Given the description of an element on the screen output the (x, y) to click on. 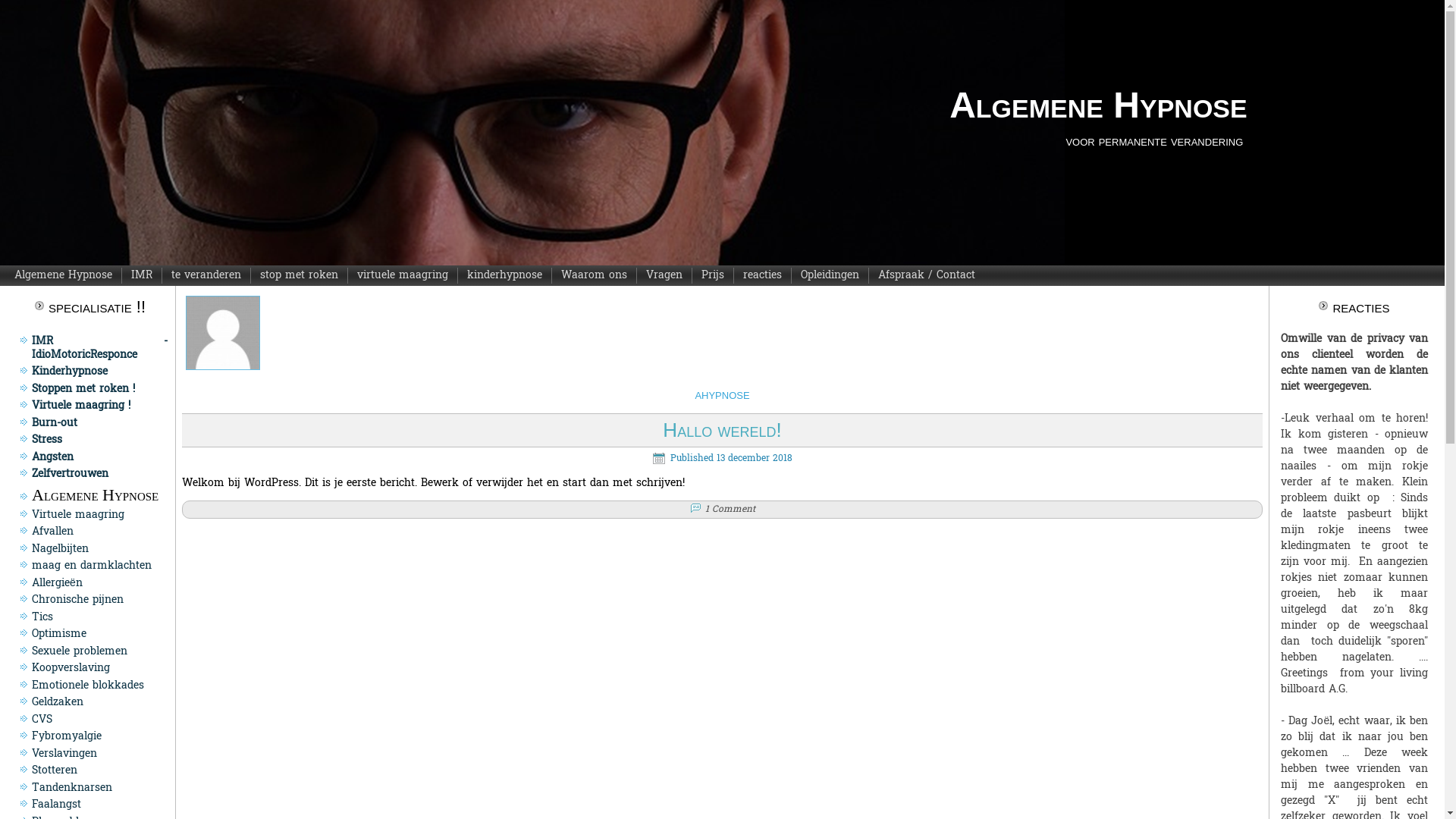
Opleidingen Element type: text (829, 275)
reacties Element type: text (762, 275)
Algemene Hypnose Element type: text (1098, 104)
kinderhypnose Element type: text (504, 275)
Vragen Element type: text (664, 275)
Hallo wereld! Element type: text (721, 429)
1 Comment Element type: text (730, 509)
stop met roken Element type: text (299, 275)
te veranderen Element type: text (206, 275)
Algemene Hypnose Element type: text (63, 275)
Afspraak / Contact Element type: text (926, 275)
Waarom ons Element type: text (594, 275)
Prijs Element type: text (712, 275)
IMR Element type: text (141, 275)
virtuele maagring Element type: text (402, 275)
